Given the description of an element on the screen output the (x, y) to click on. 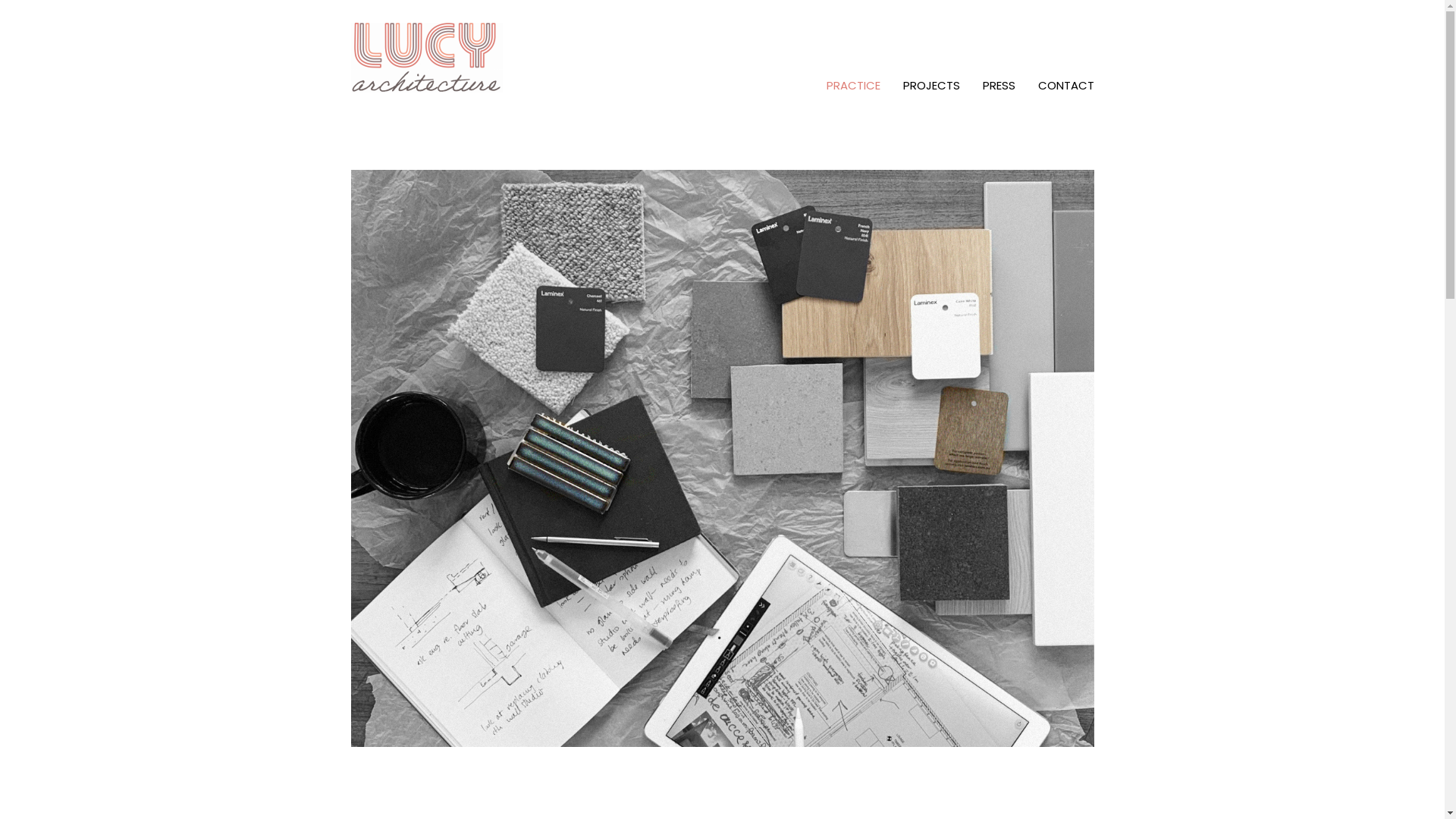
PRESS Element type: text (998, 86)
PRACTICE Element type: text (852, 86)
CONTACT Element type: text (1065, 86)
PROJECTS Element type: text (931, 86)
